Given the description of an element on the screen output the (x, y) to click on. 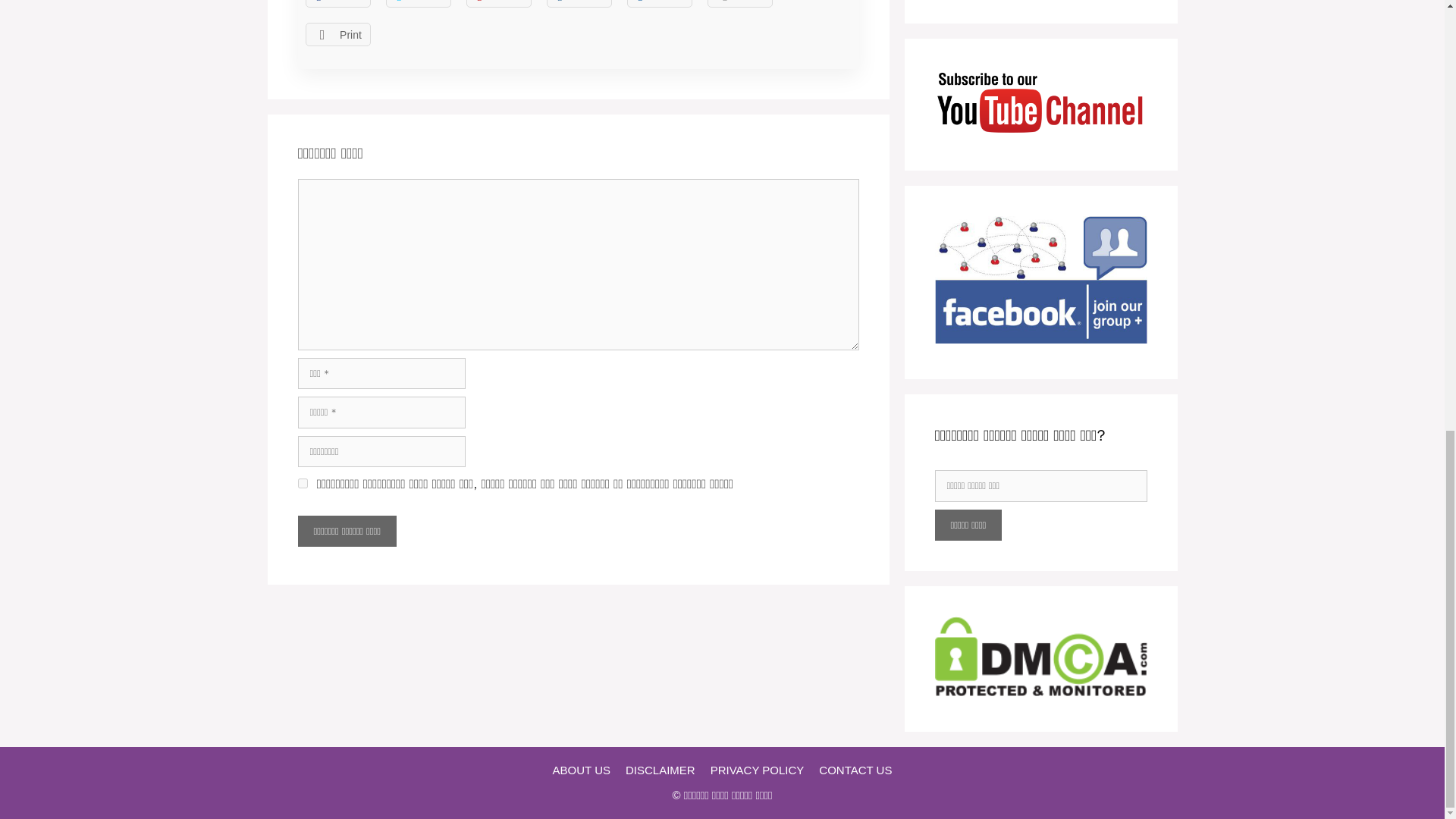
Share on Twitter (417, 3)
Share on LinkedIn (578, 3)
Share (658, 3)
Share on Pinterest (498, 3)
yes (302, 483)
Share (336, 3)
Share (498, 3)
Share it on Email (738, 3)
Print (336, 33)
Share (578, 3)
